Given the description of an element on the screen output the (x, y) to click on. 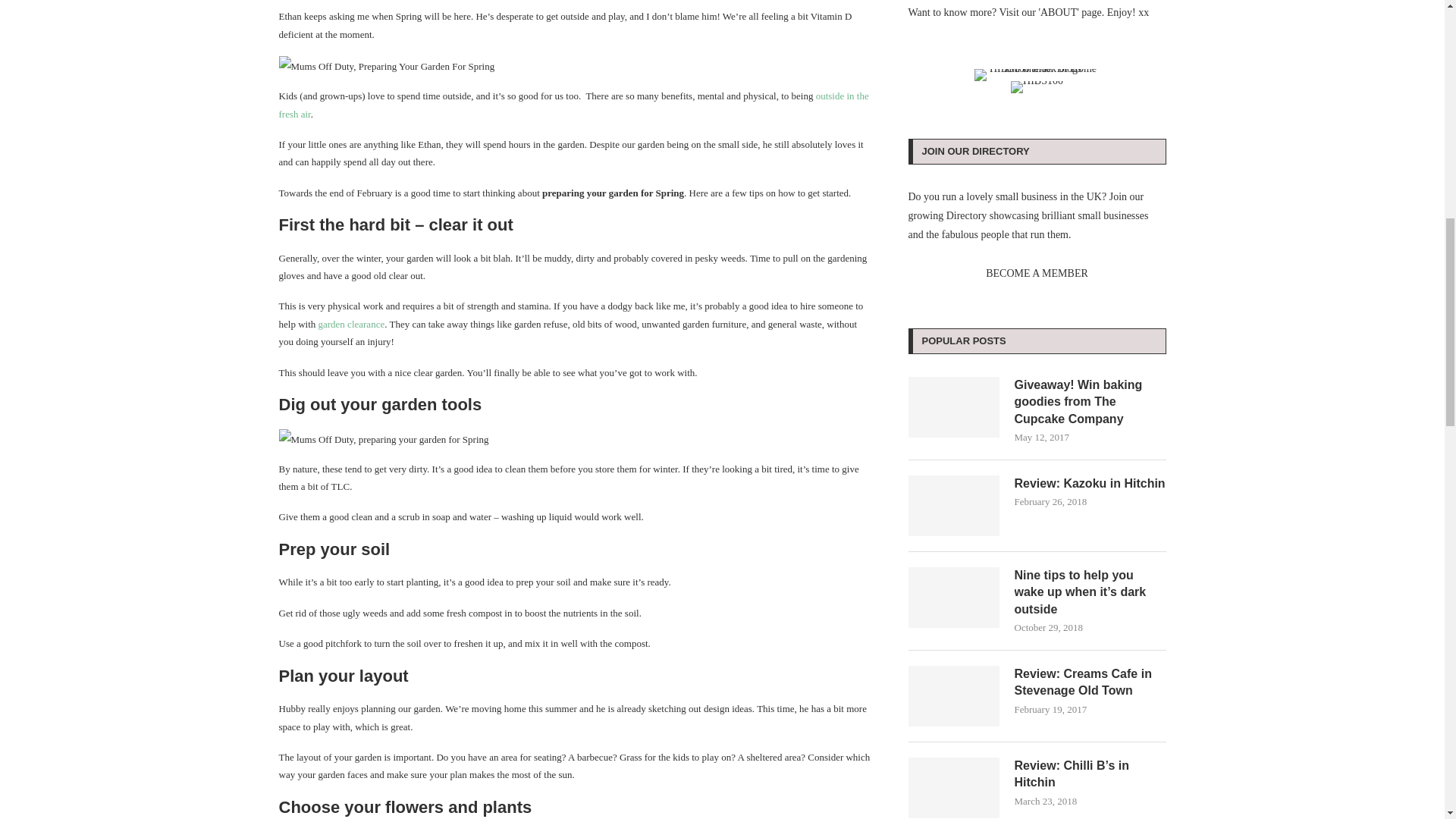
garden clearance (351, 324)
outside in the fresh air (574, 104)
